Given the description of an element on the screen output the (x, y) to click on. 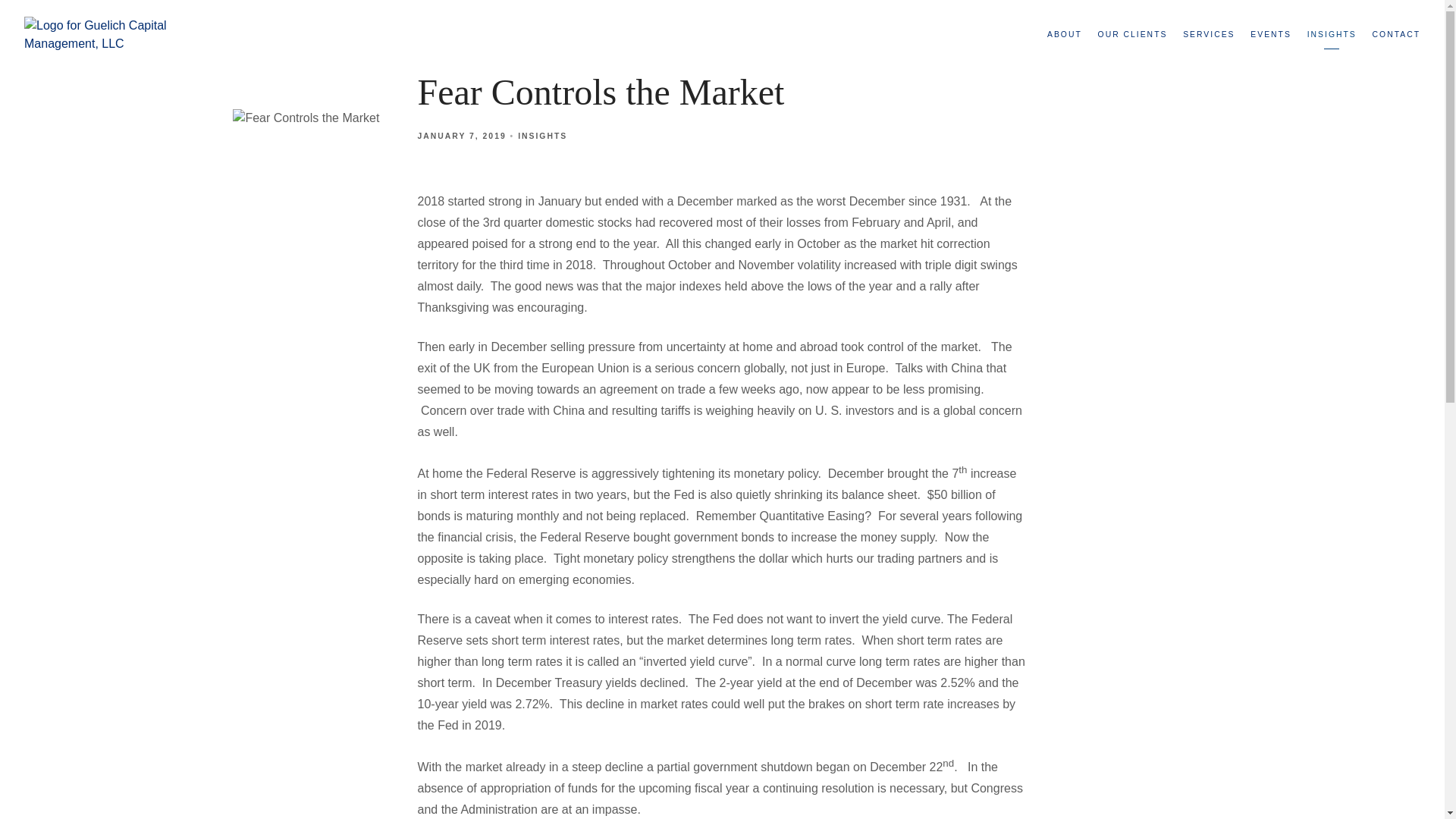
ABOUT (1063, 34)
OUR CLIENTS (1132, 34)
INSIGHTS (542, 135)
INSIGHTS (1331, 34)
CONTACT (1397, 34)
EVENTS (1270, 34)
SERVICES (1208, 34)
